Given the description of an element on the screen output the (x, y) to click on. 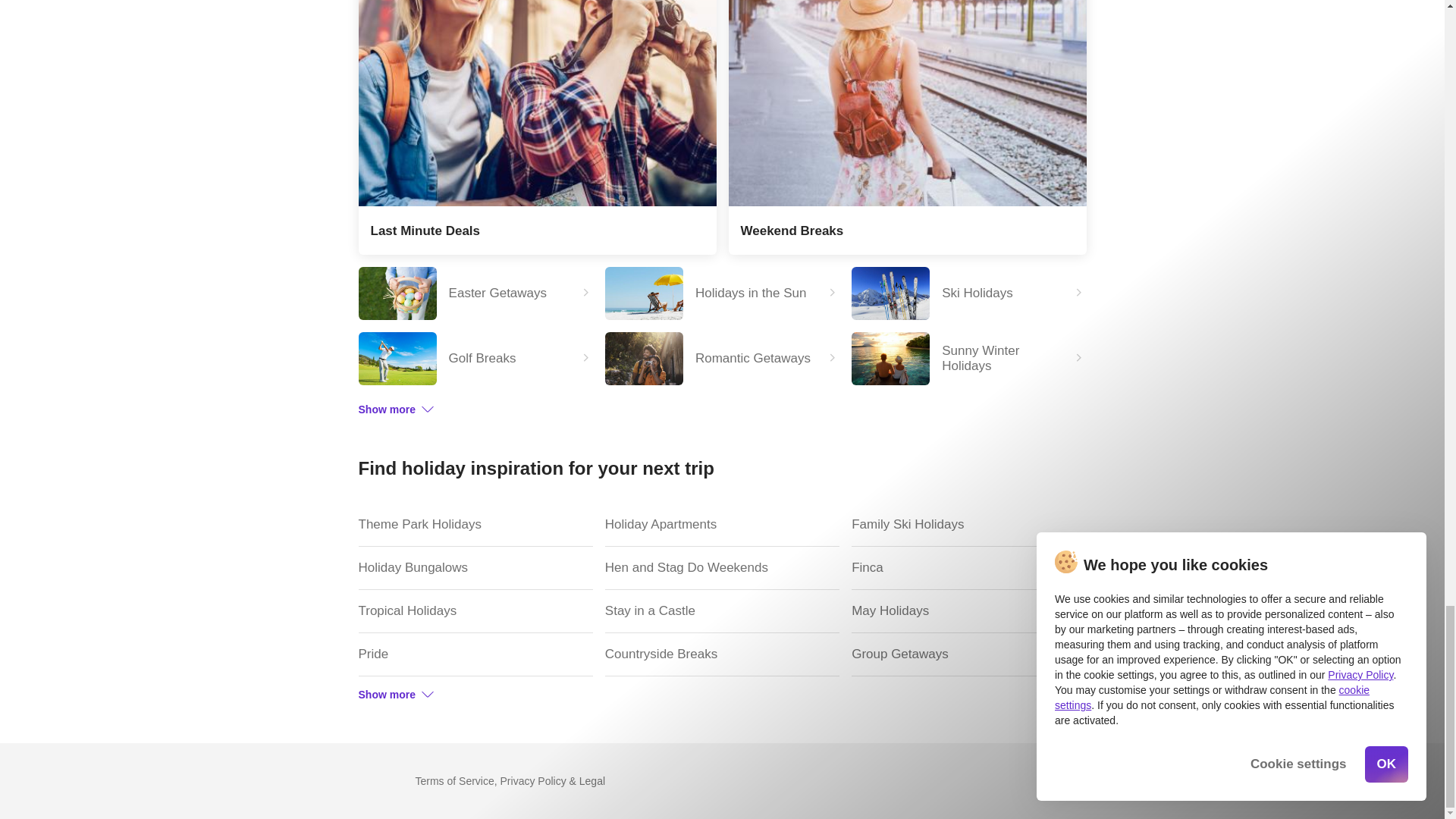
Golf Breaks (475, 358)
Weekend Breaks (907, 127)
Romantic Getaways (722, 358)
Last Minute Deals (537, 127)
Ski Holidays (968, 293)
Easter Getaways (475, 293)
Holidays in the Sun (722, 293)
